Given the description of an element on the screen output the (x, y) to click on. 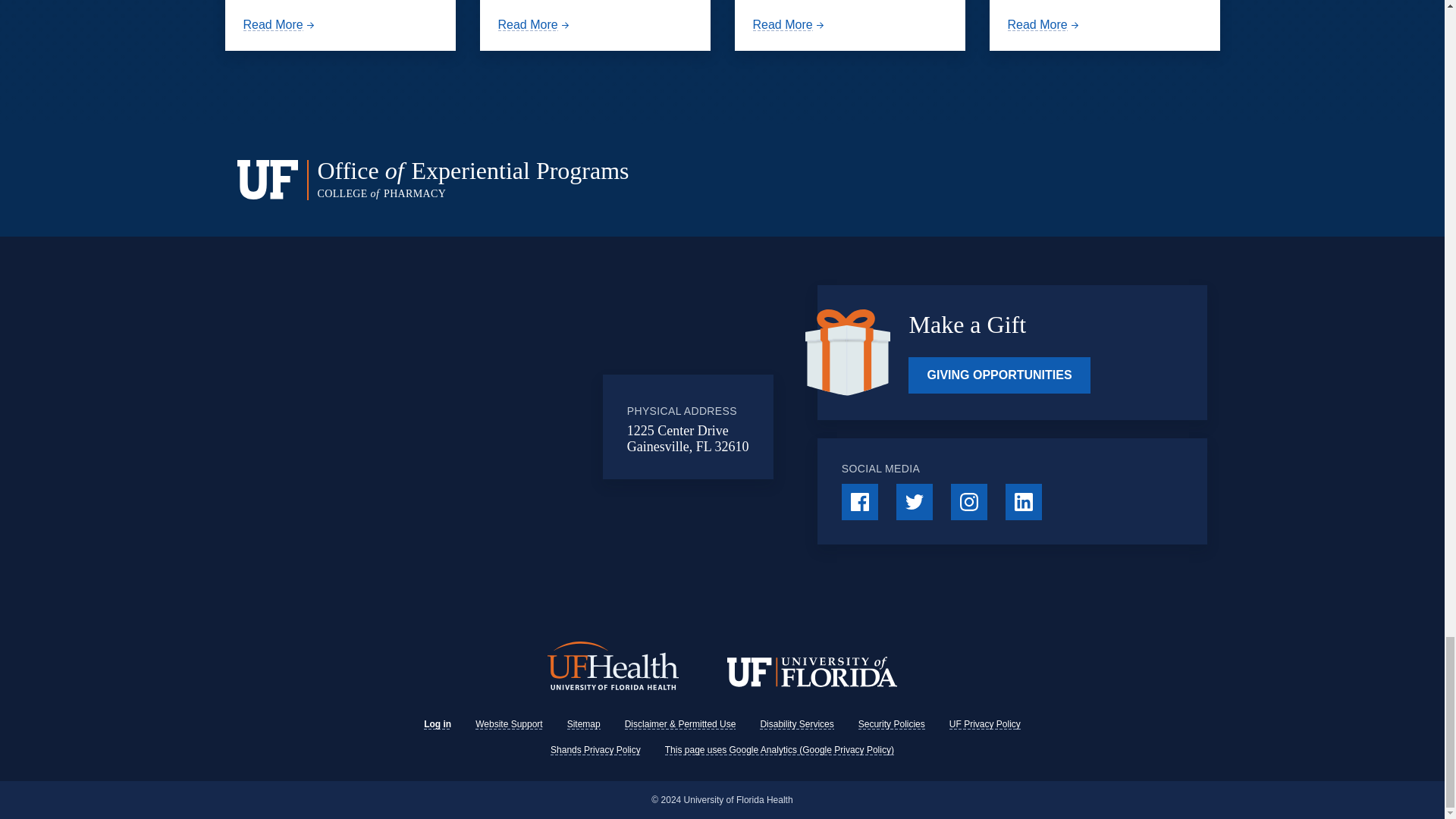
Log in (437, 724)
Read More (534, 24)
UF Privacy Policy (984, 724)
Read More (280, 24)
Google Maps Embed (478, 426)
Read More (789, 24)
Shands Privacy Policy (595, 749)
Sitemap (583, 724)
Disability Services (796, 724)
Security Policies (891, 724)
Read More (1044, 24)
Website Support (509, 724)
